Given the description of an element on the screen output the (x, y) to click on. 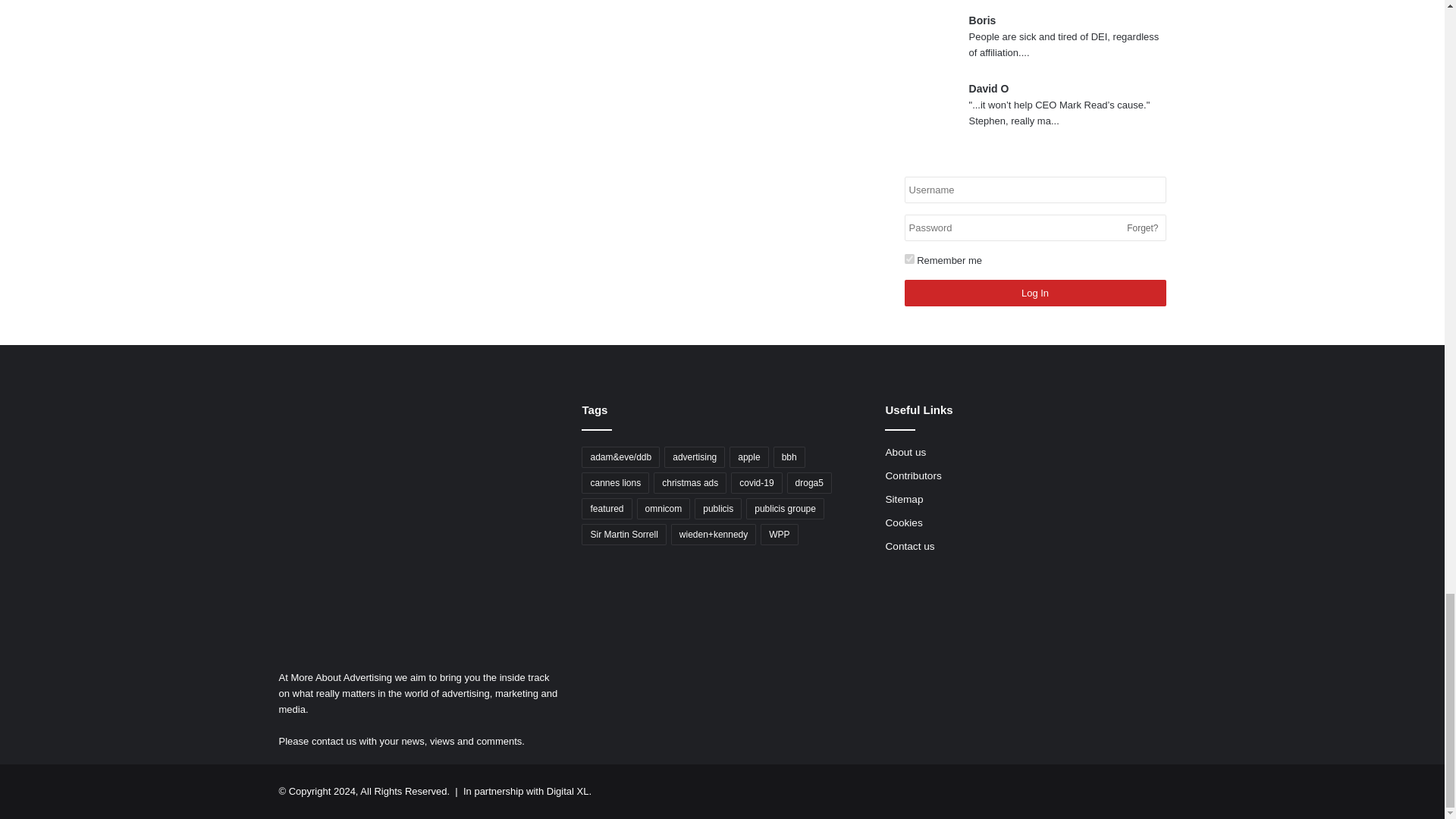
Password (1035, 227)
Username (1035, 189)
forever (909, 258)
